Given the description of an element on the screen output the (x, y) to click on. 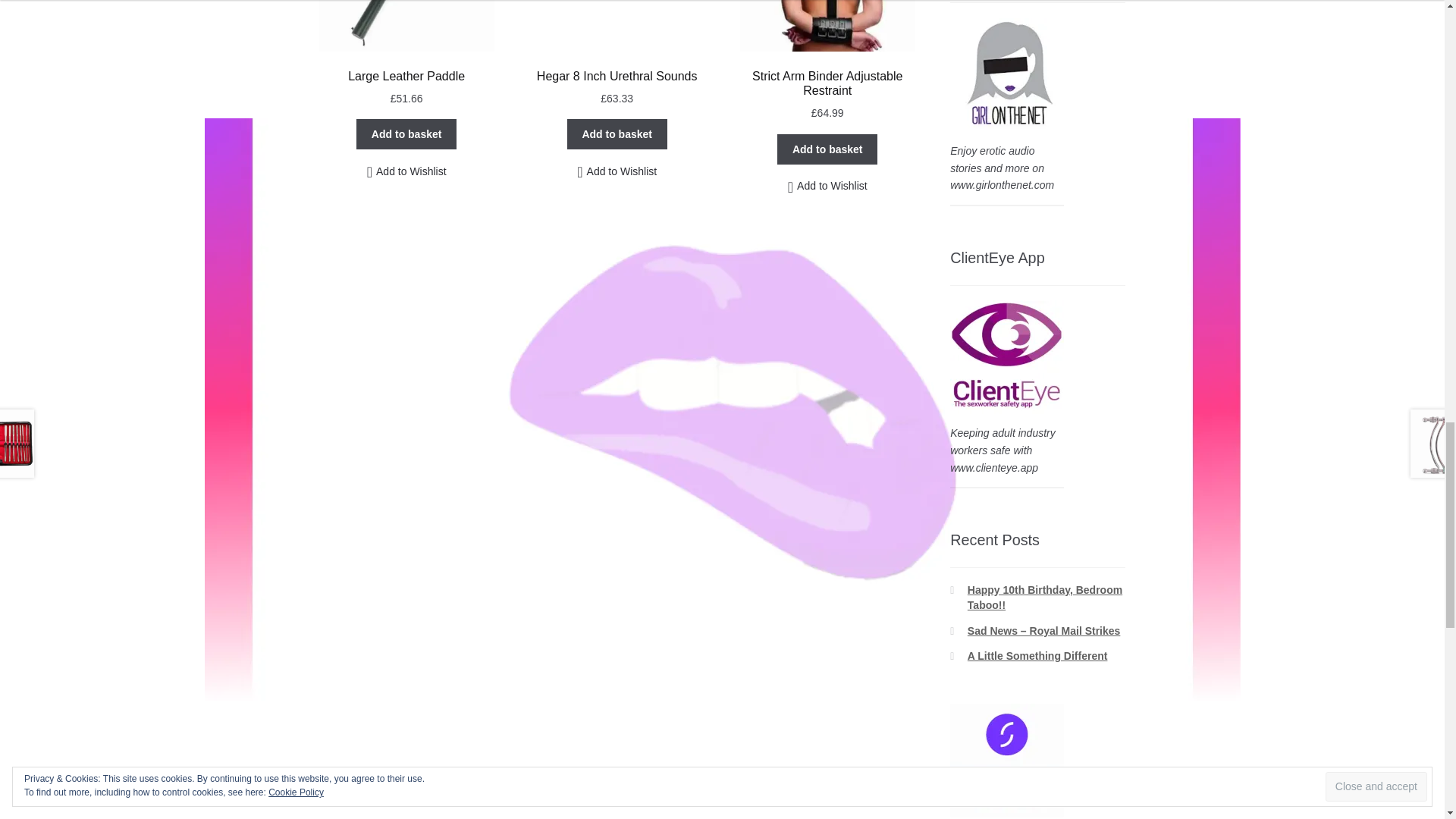
Girl On The Net (1007, 74)
Girl On The Net (1007, 357)
